Given the description of an element on the screen output the (x, y) to click on. 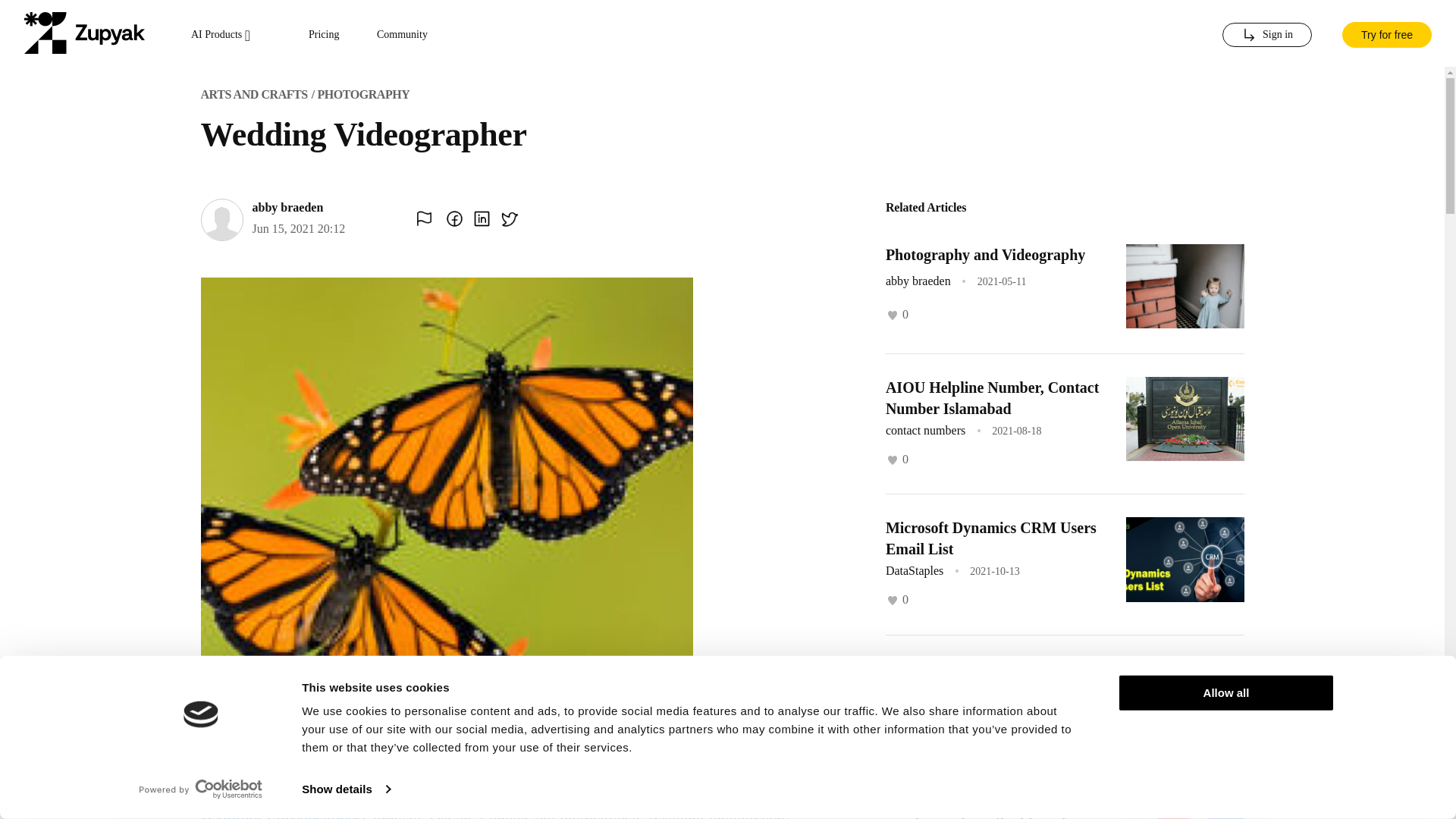
Show details (345, 789)
Photography and Videography (984, 254)
AIOU Helpline Number, Contact Number Islamabad (992, 397)
Real numbers (930, 668)
Microsoft Dynamics CRM Users Email List (990, 538)
